Given the description of an element on the screen output the (x, y) to click on. 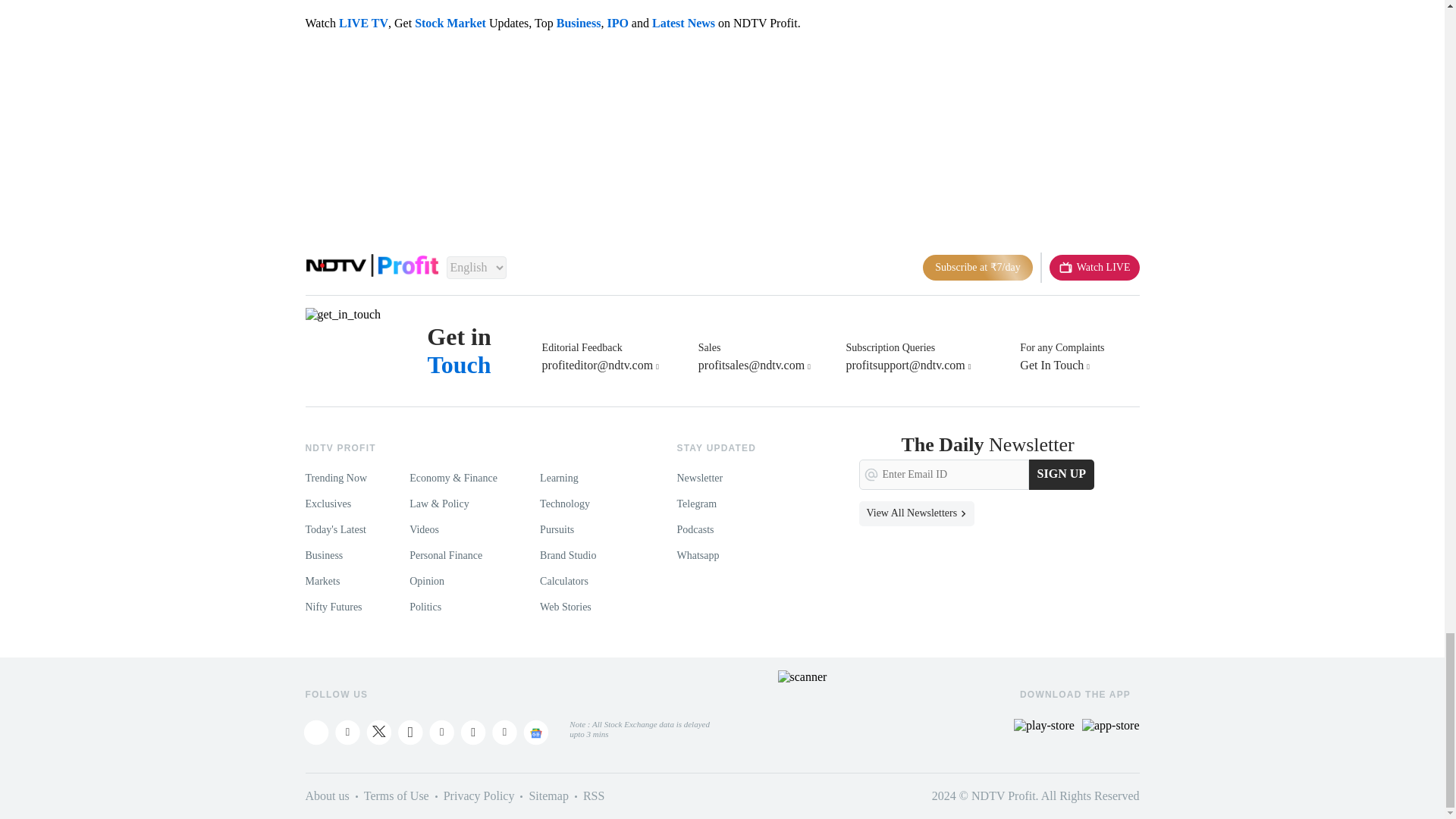
Live TV (1094, 267)
